Given the description of an element on the screen output the (x, y) to click on. 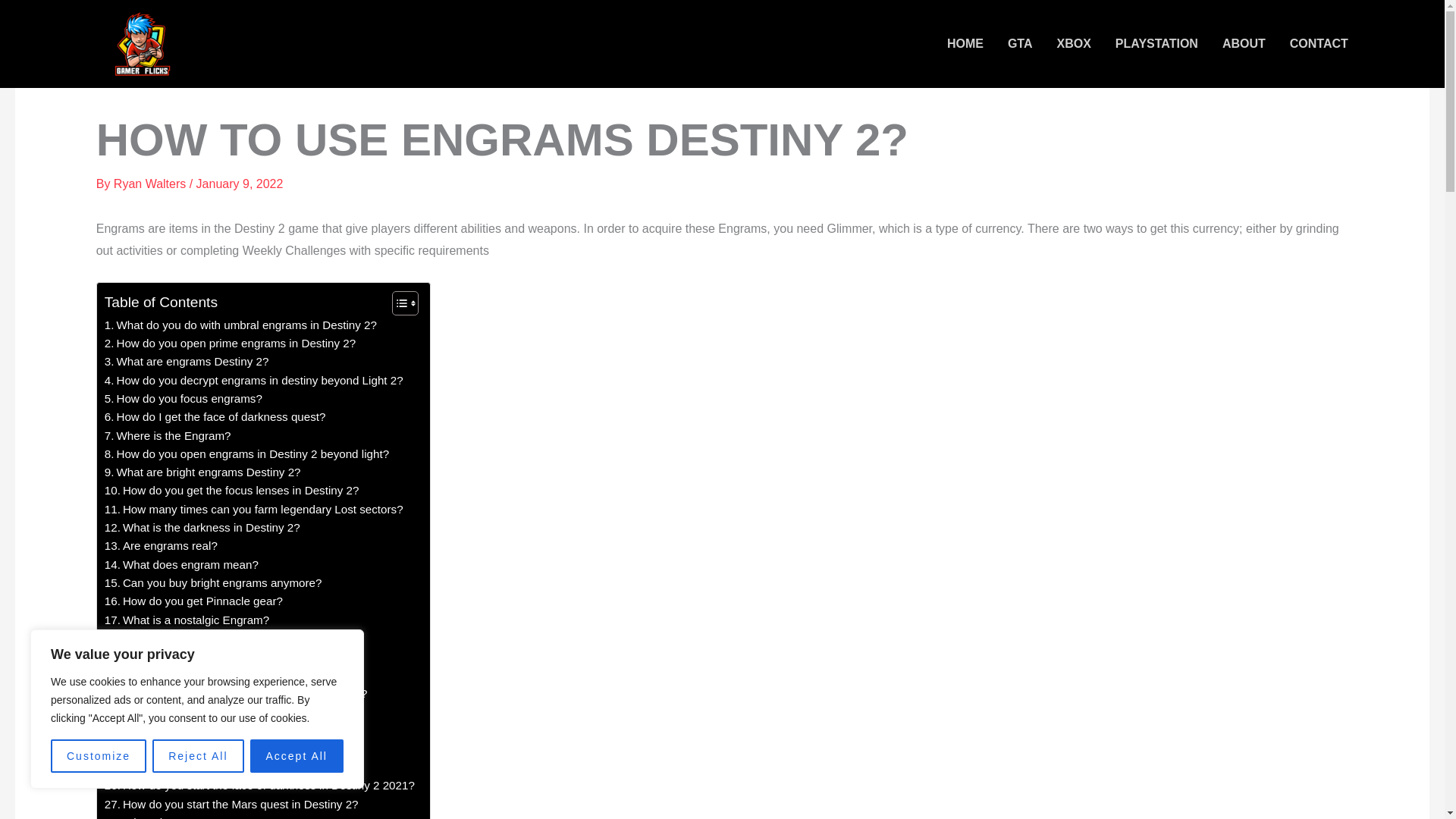
How do you open prime engrams in Destiny 2? (229, 343)
Customize (98, 756)
Reject All (197, 756)
ABOUT (1243, 43)
How do you focus engrams? (183, 398)
Ryan Walters (151, 183)
Where is the Engram? (167, 434)
How do you decrypt engrams in destiny beyond Light 2? (253, 380)
What is the darkness in Destiny 2? (201, 527)
What do you do with umbral engrams in Destiny 2? (240, 325)
HOME (964, 43)
What are engrams Destiny 2? (186, 361)
What are bright engrams Destiny 2? (202, 472)
Accept All (296, 756)
How do I get the face of darkness quest? (215, 416)
